Given the description of an element on the screen output the (x, y) to click on. 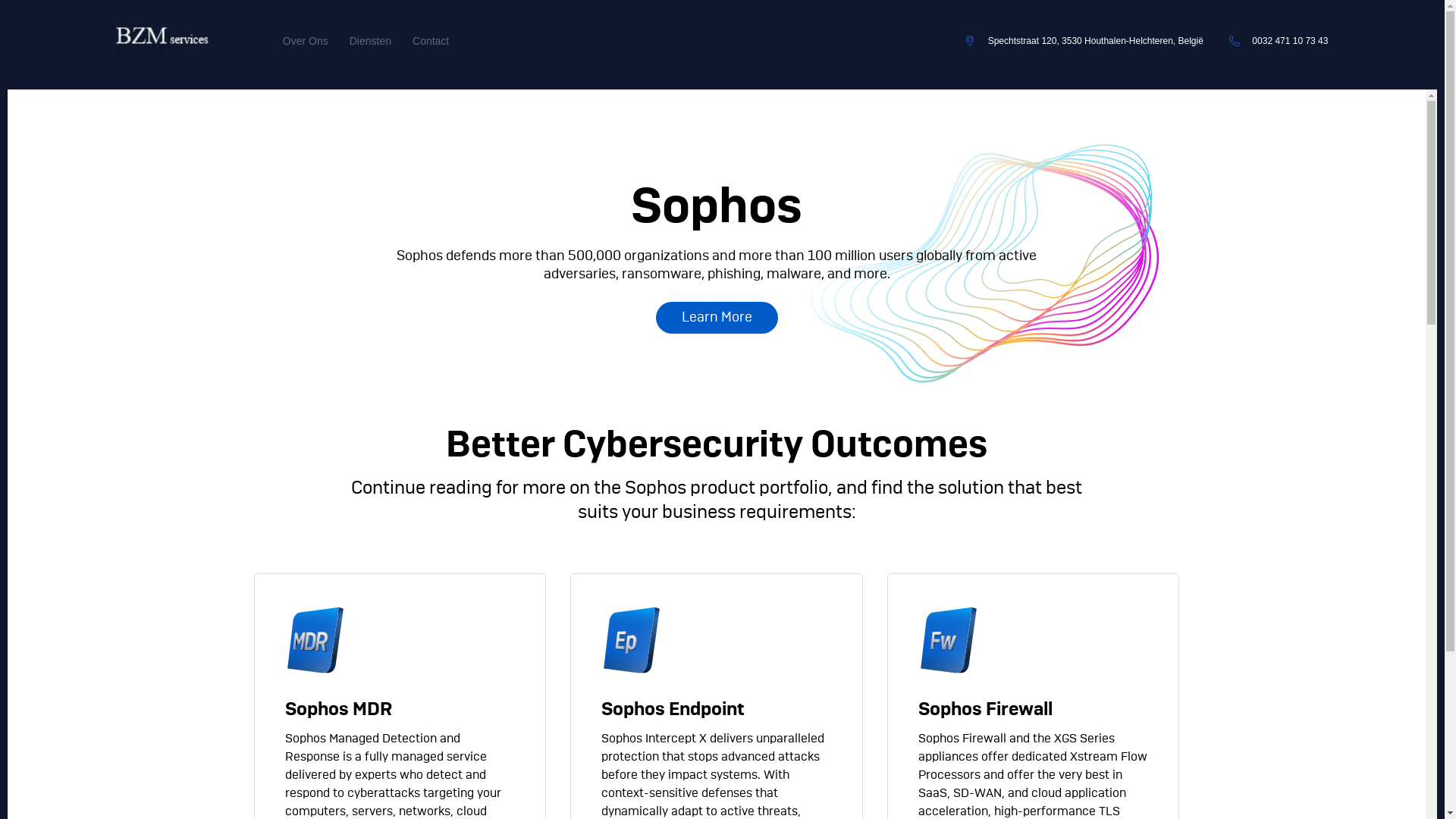
Diensten Element type: text (370, 40)
Over Ons Element type: text (305, 40)
Contact Element type: text (430, 40)
